Given the description of an element on the screen output the (x, y) to click on. 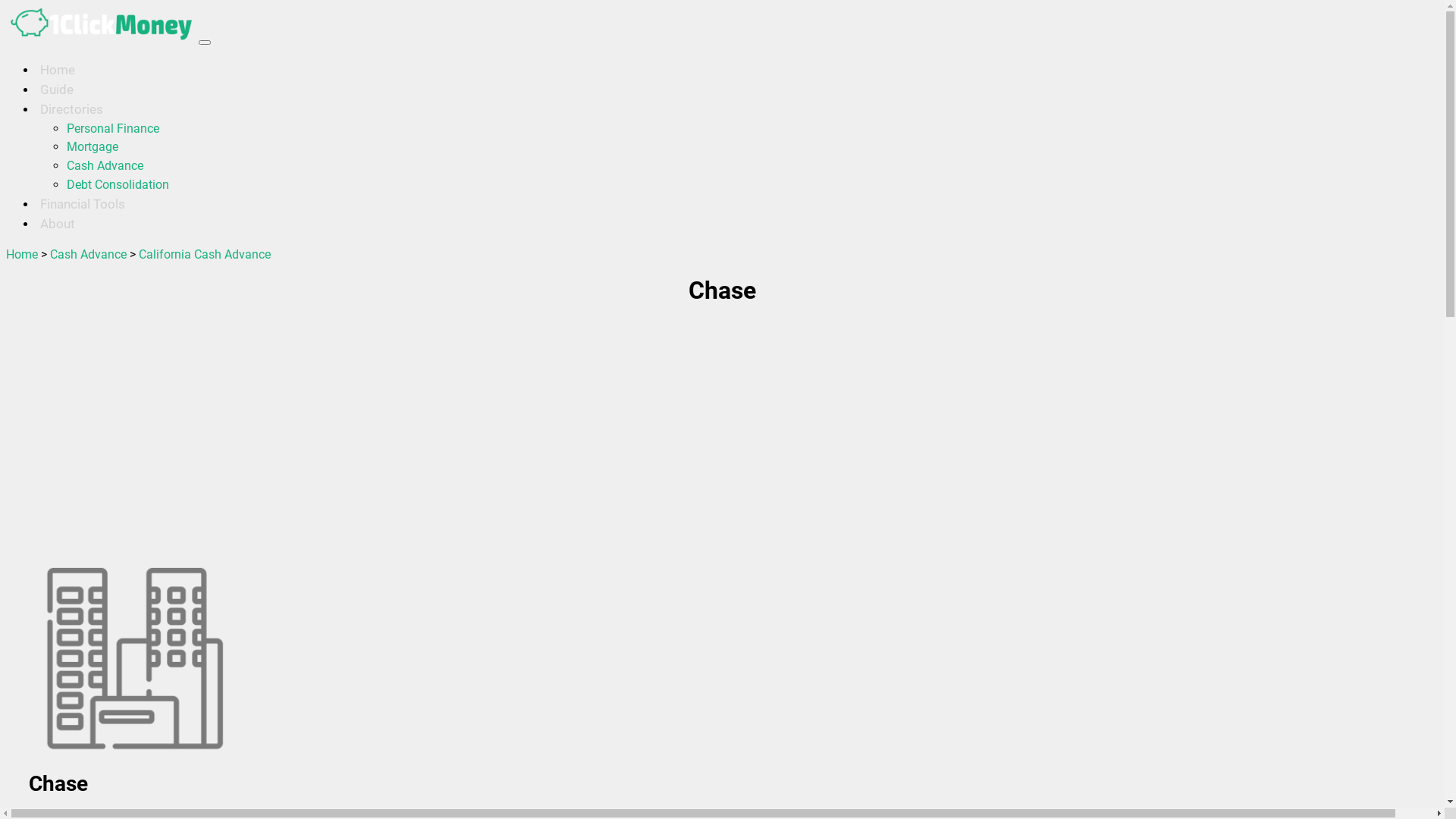
Cash Advance Element type: text (104, 165)
About Element type: text (57, 222)
Guide Element type: text (56, 89)
Home Element type: text (21, 254)
Personal Finance Element type: text (112, 128)
Directories Element type: text (71, 108)
Financial Tools Element type: text (82, 203)
Mortgage Element type: text (92, 146)
California Cash Advance Element type: text (204, 254)
Advertisement Element type: hover (461, 435)
Cash Advance Element type: text (88, 254)
Home Element type: text (57, 69)
Debt Consolidation Element type: text (117, 184)
